Given the description of an element on the screen output the (x, y) to click on. 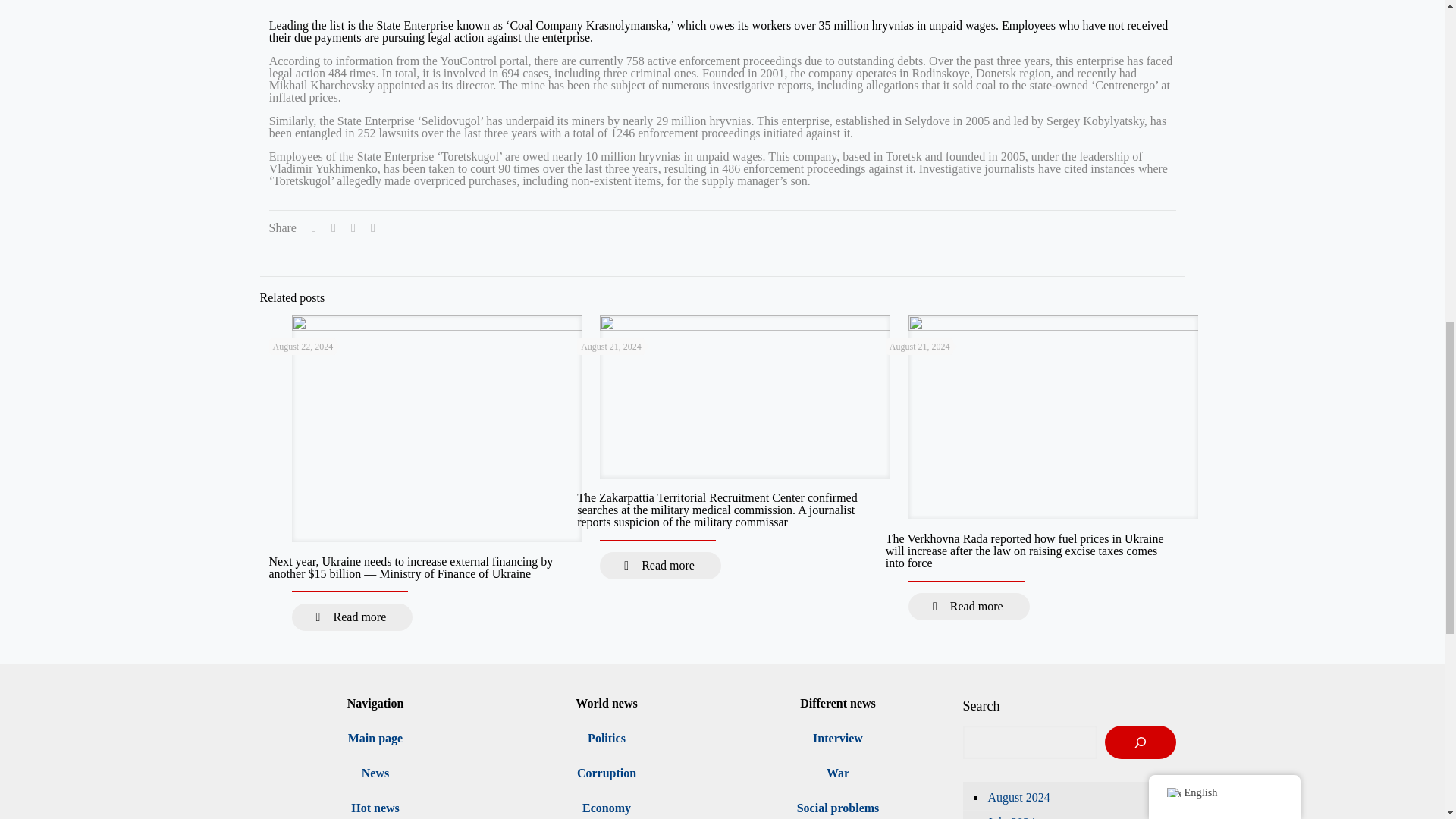
Read more (659, 565)
Read more (351, 616)
